Given the description of an element on the screen output the (x, y) to click on. 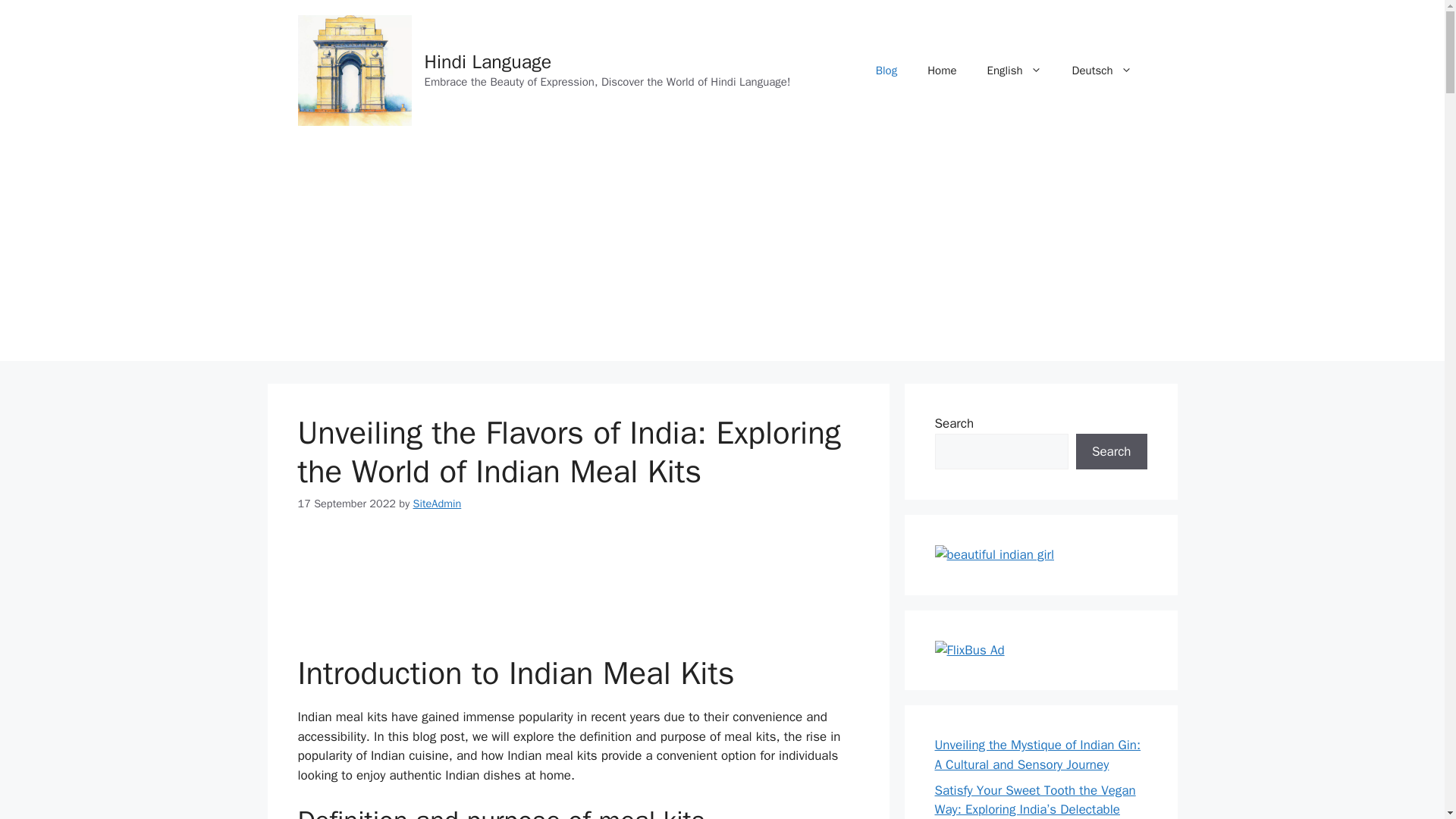
Hindi Language (488, 61)
Deutsch (1102, 70)
Home (941, 70)
View all posts by SiteAdmin (437, 503)
Search (1111, 452)
SiteAdmin (437, 503)
Blog (886, 70)
English (1014, 70)
